Given the description of an element on the screen output the (x, y) to click on. 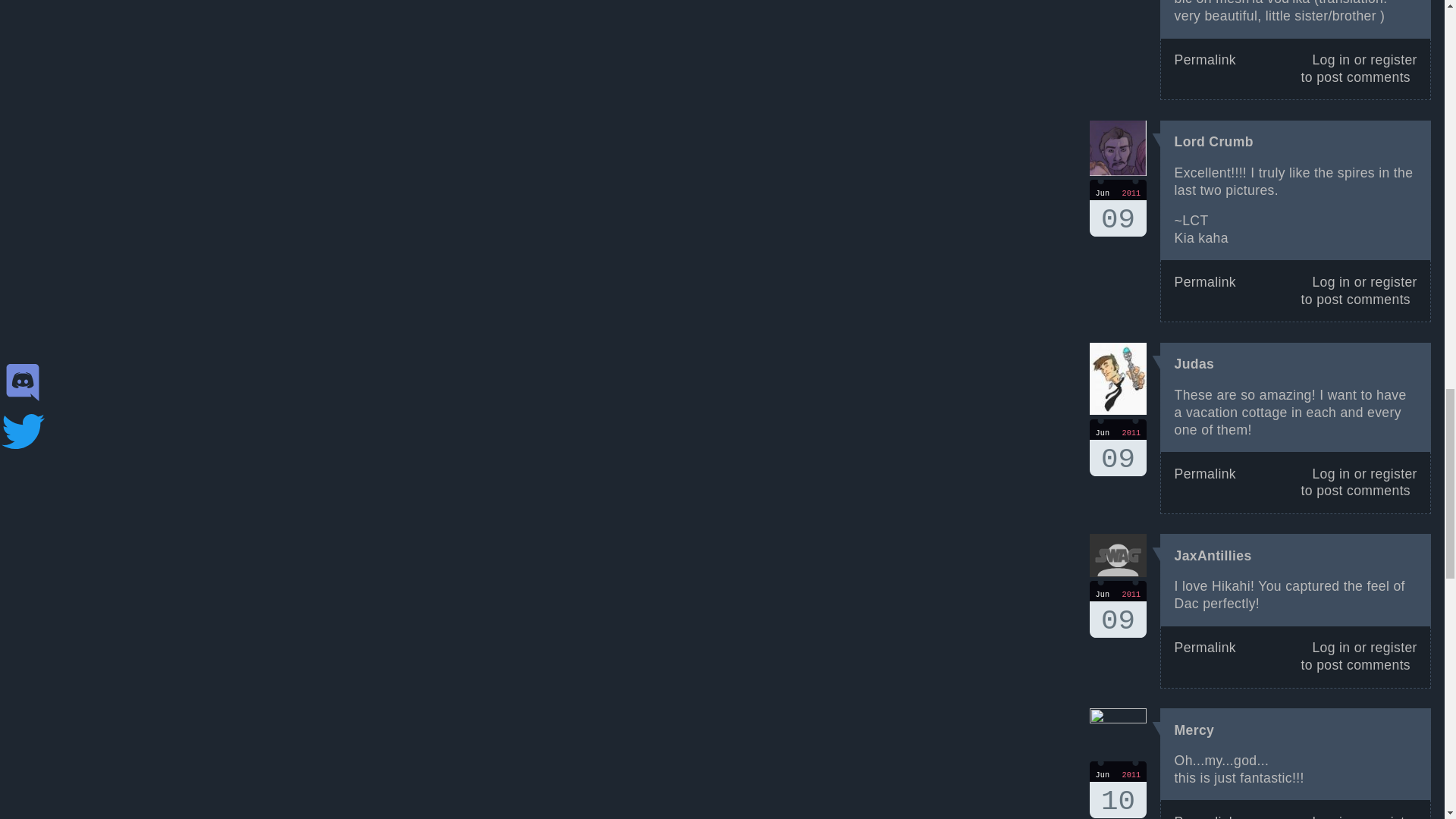
View user profile. (1213, 141)
View user profile. (1213, 555)
View user profile. (1118, 609)
View user profile. (1118, 447)
